Given the description of an element on the screen output the (x, y) to click on. 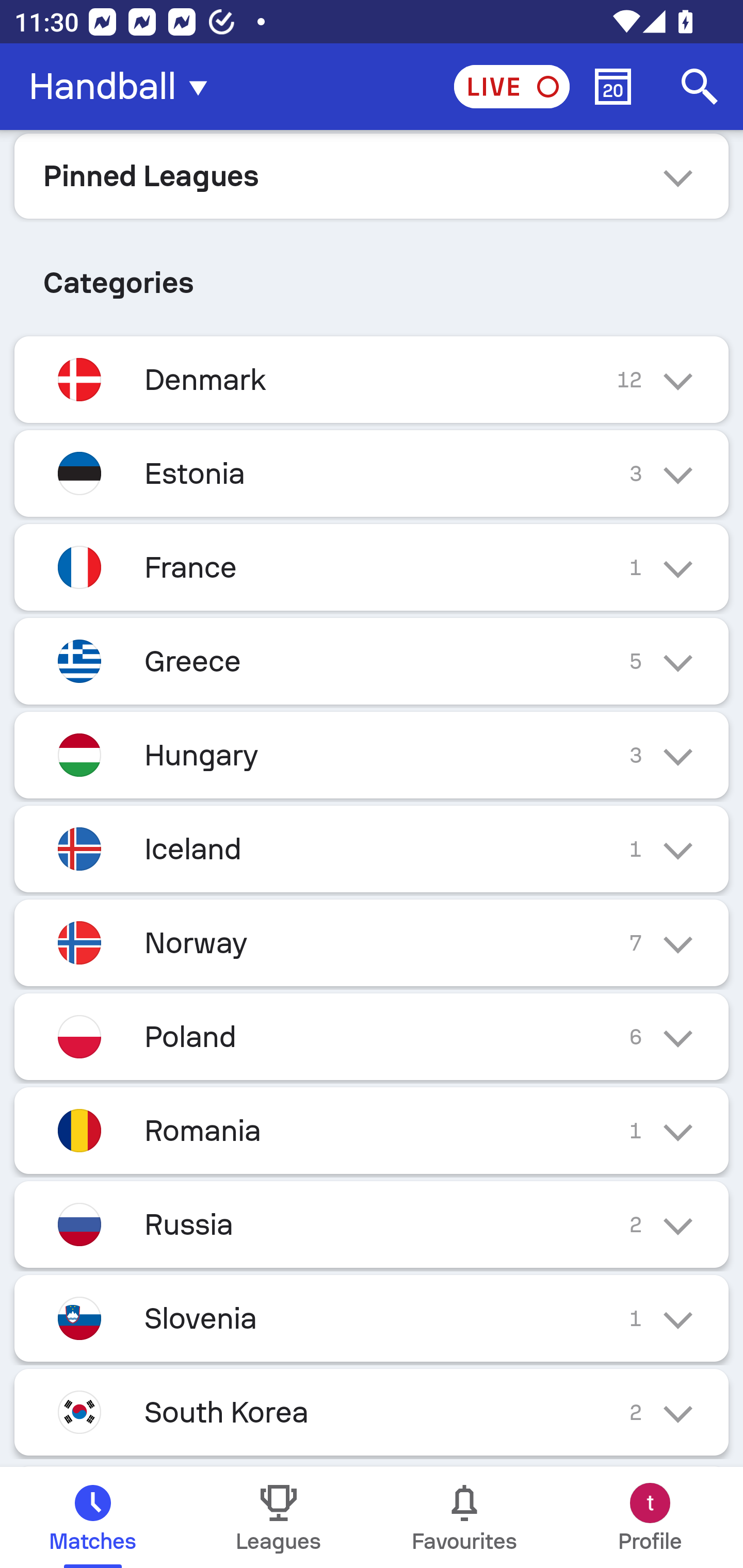
Handball (124, 86)
Calendar (612, 86)
Search (699, 86)
Pinned Leagues (371, 175)
Categories (371, 275)
Denmark 12 (371, 379)
Estonia 3 (371, 473)
France 1 (371, 566)
Greece 5 (371, 660)
Hungary 3 (371, 754)
Iceland 1 (371, 848)
Norway 7 (371, 943)
Poland 6 (371, 1037)
Romania 1 (371, 1130)
Russia 2 (371, 1224)
Slovenia 1 (371, 1317)
South Korea 2 (371, 1411)
Leagues (278, 1517)
Favourites (464, 1517)
Profile (650, 1517)
